Given the description of an element on the screen output the (x, y) to click on. 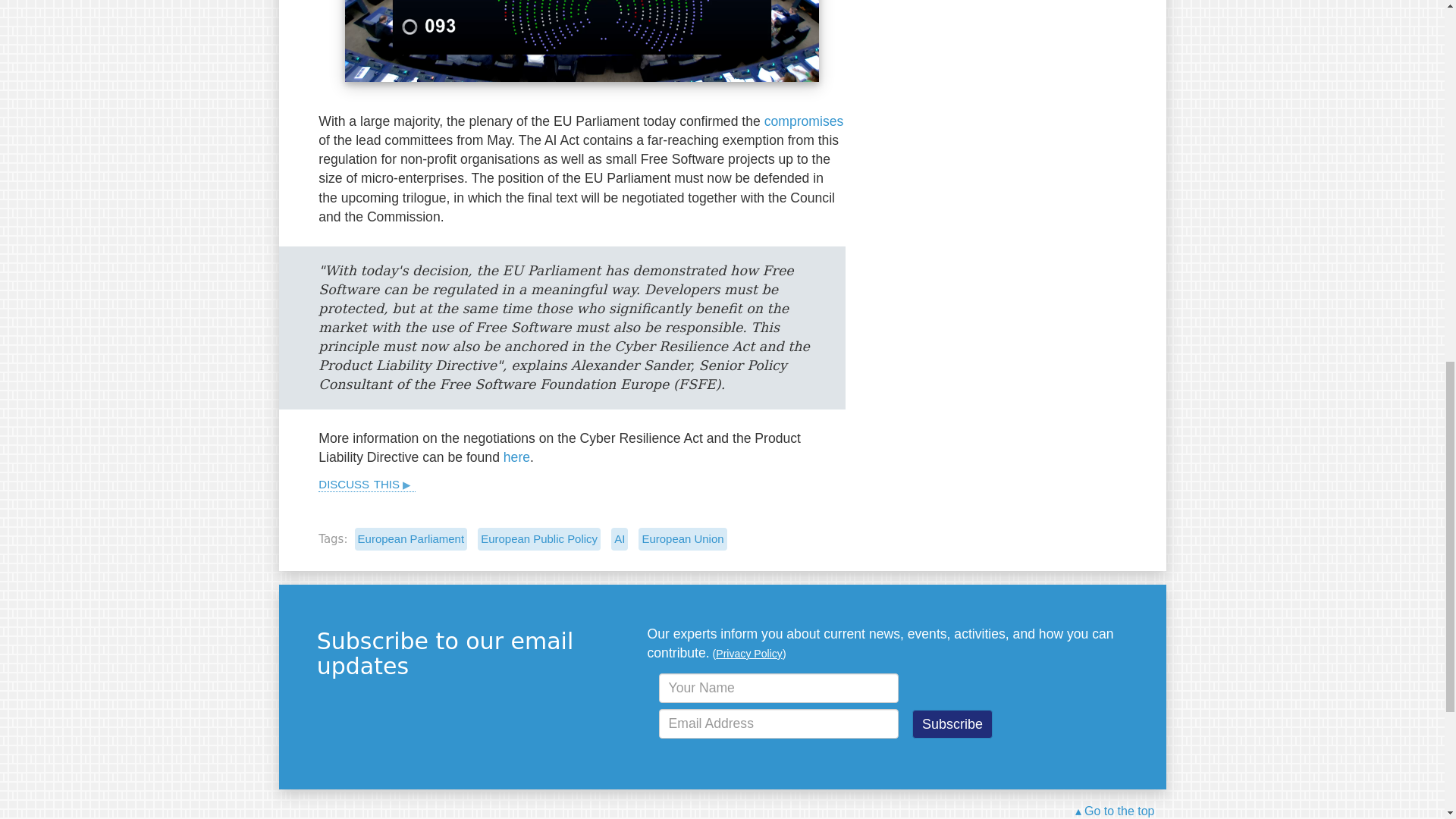
European Union (682, 538)
European Parliament (411, 538)
compromises (804, 120)
discuss this (366, 483)
Subscribe (952, 724)
Privacy Policy (749, 653)
European Public Policy (538, 538)
Subscribe (952, 724)
here (516, 457)
